Given the description of an element on the screen output the (x, y) to click on. 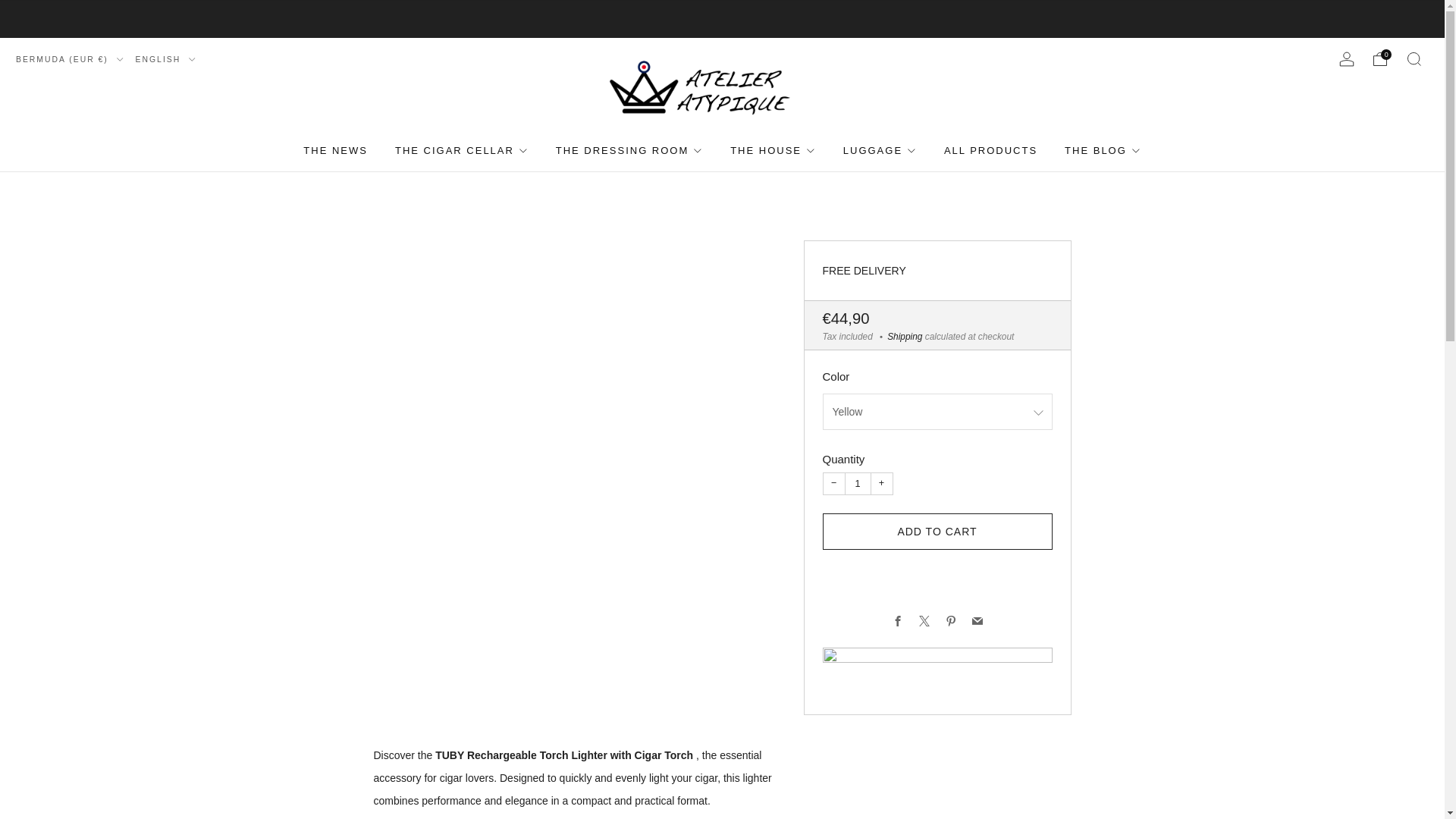
THE BLOG (1102, 150)
ALL PRODUCTS (989, 150)
THE HOUSE (772, 150)
THE CIGAR CELLAR (461, 150)
THE DRESSING ROOM (629, 150)
1 (857, 483)
LUGGAGE (880, 150)
THE NEWS (335, 150)
